Given the description of an element on the screen output the (x, y) to click on. 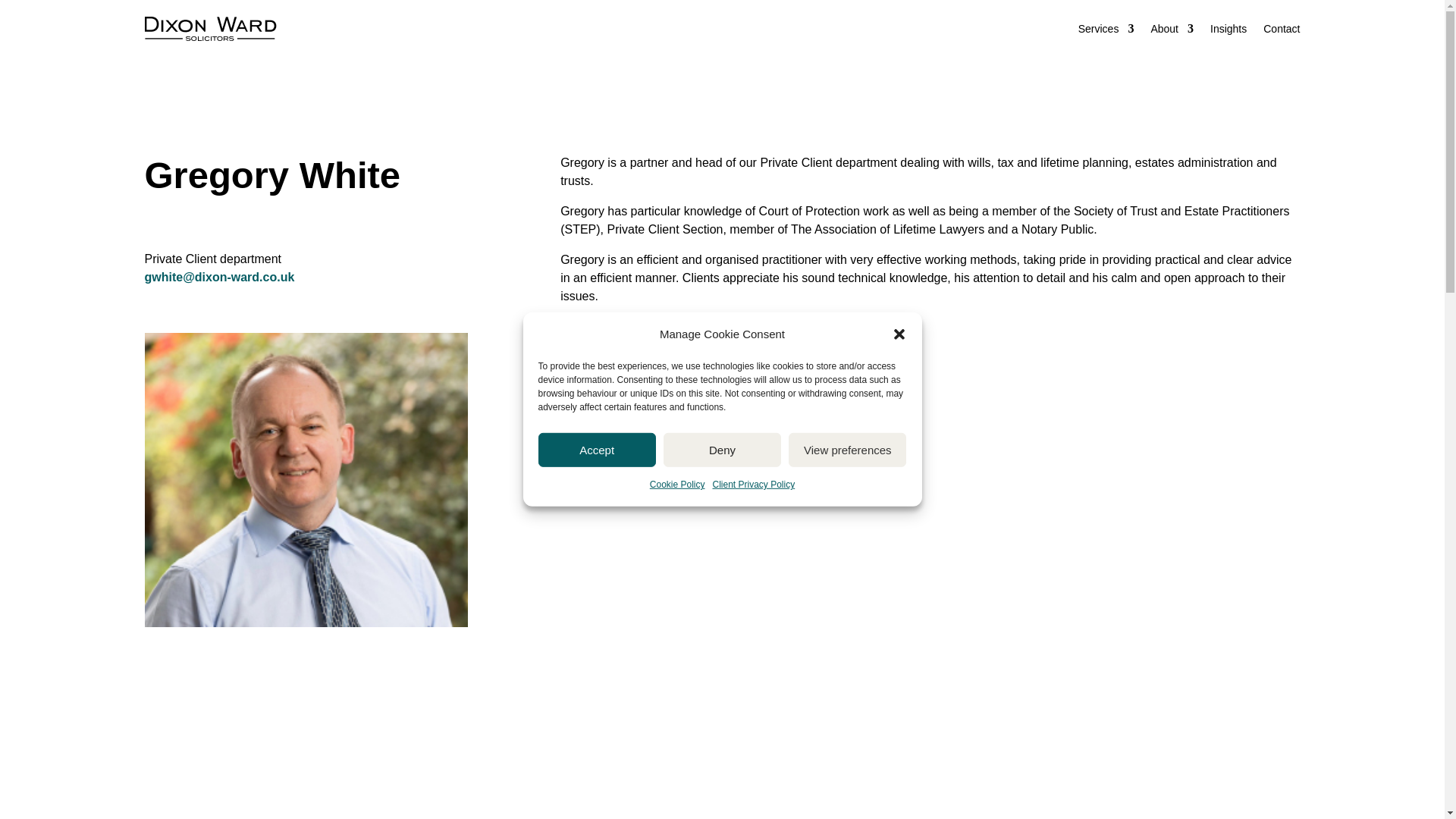
Cookie Policy (676, 485)
Deny (721, 449)
View preferences (847, 449)
Services (1106, 28)
Client Privacy Policy (753, 485)
Accept (597, 449)
